Given the description of an element on the screen output the (x, y) to click on. 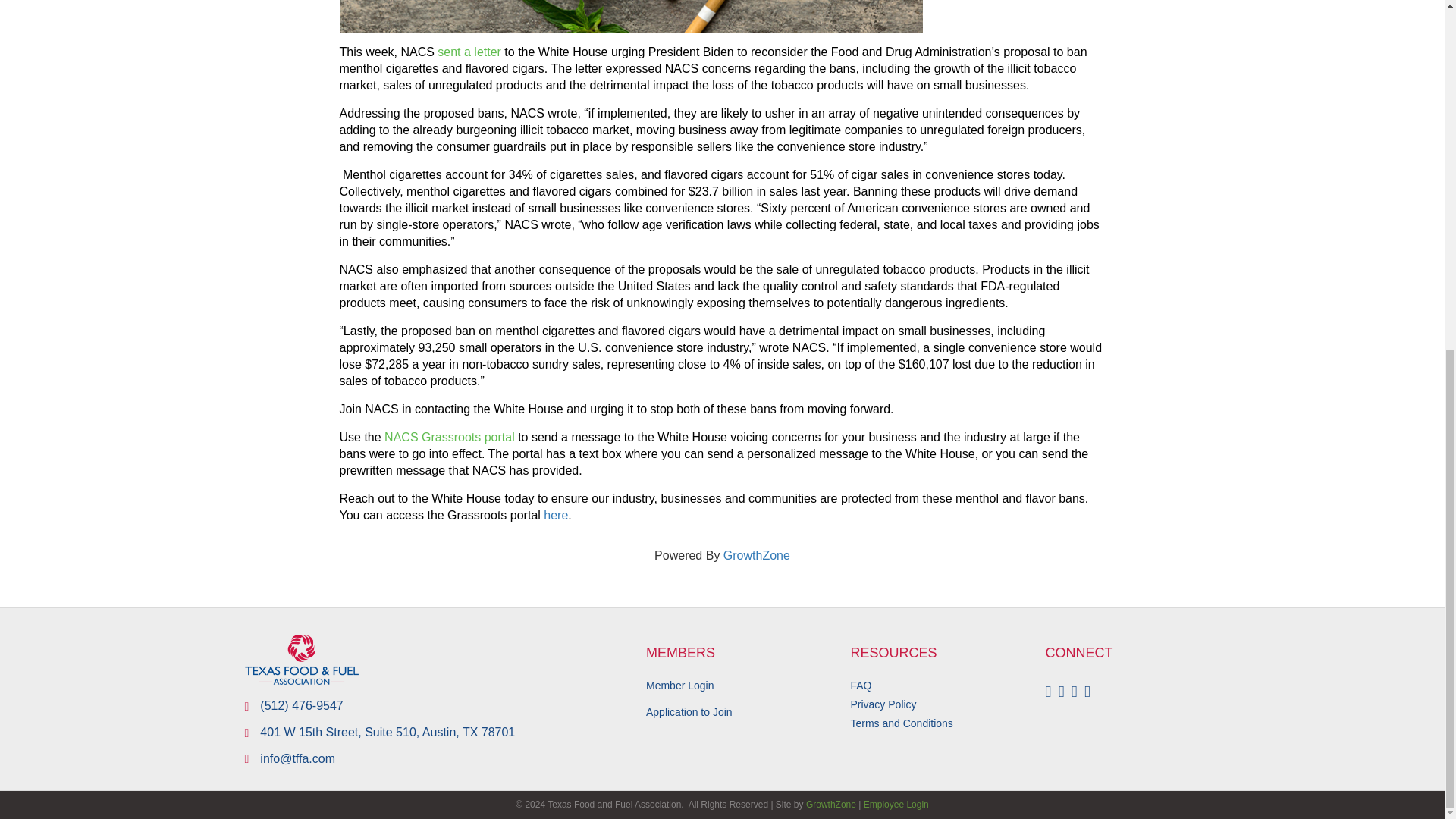
tffa logo transparent 552x242 (301, 659)
